Given the description of an element on the screen output the (x, y) to click on. 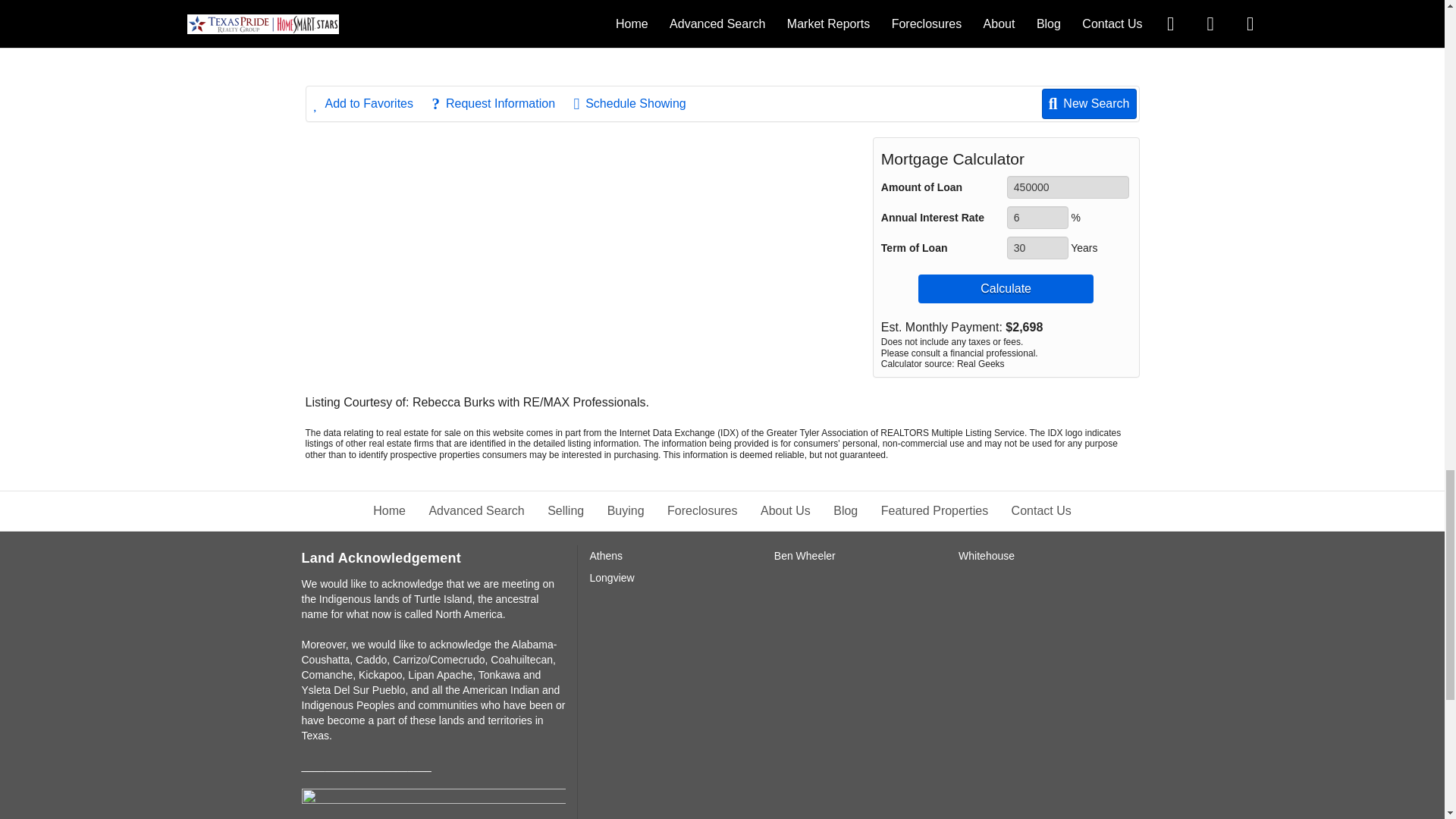
30 (1037, 247)
450000 (1068, 187)
6 (1037, 217)
